Given the description of an element on the screen output the (x, y) to click on. 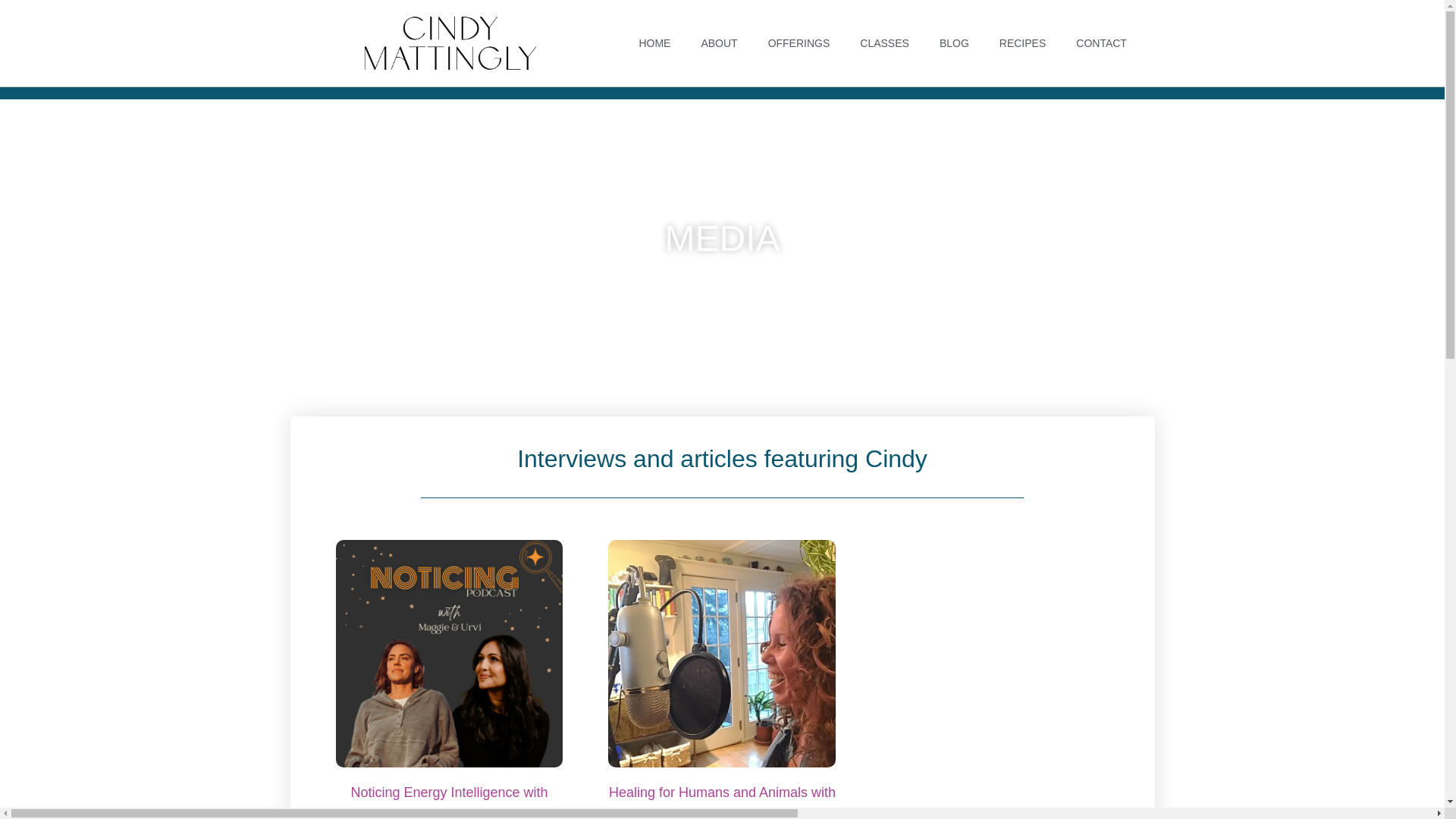
ABOUT (718, 42)
CLASSES (884, 42)
Healing for Humans and Animals with Alissa Cohen (721, 801)
RECIPES (1022, 42)
CONTACT (1101, 42)
HOME (654, 42)
OFFERINGS (798, 42)
